Given the description of an element on the screen output the (x, y) to click on. 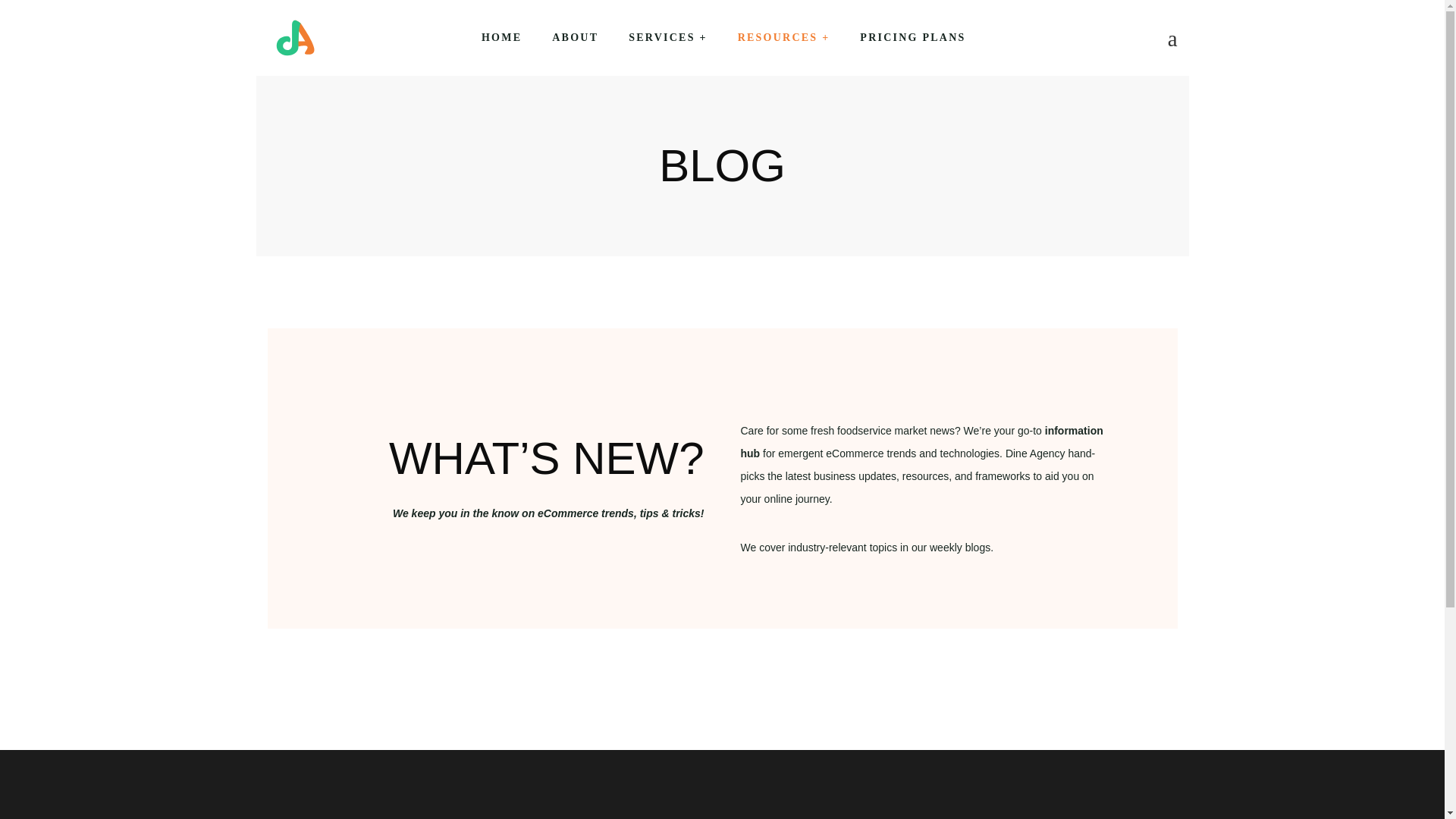
ABOUT (574, 38)
PRICING PLANS (911, 38)
HOME (501, 38)
